Given the description of an element on the screen output the (x, y) to click on. 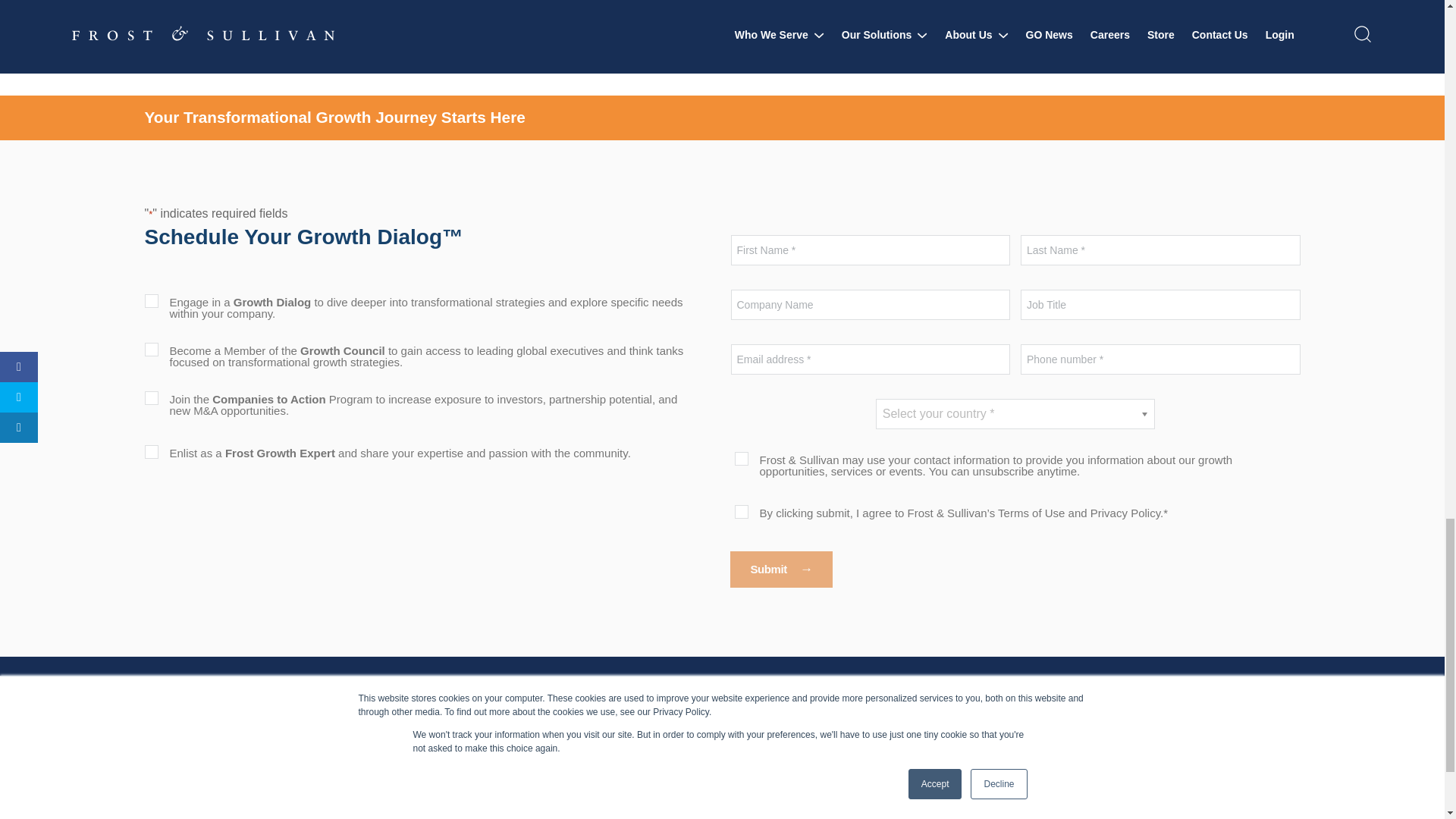
frostsullivanlogo (223, 715)
